Given the description of an element on the screen output the (x, y) to click on. 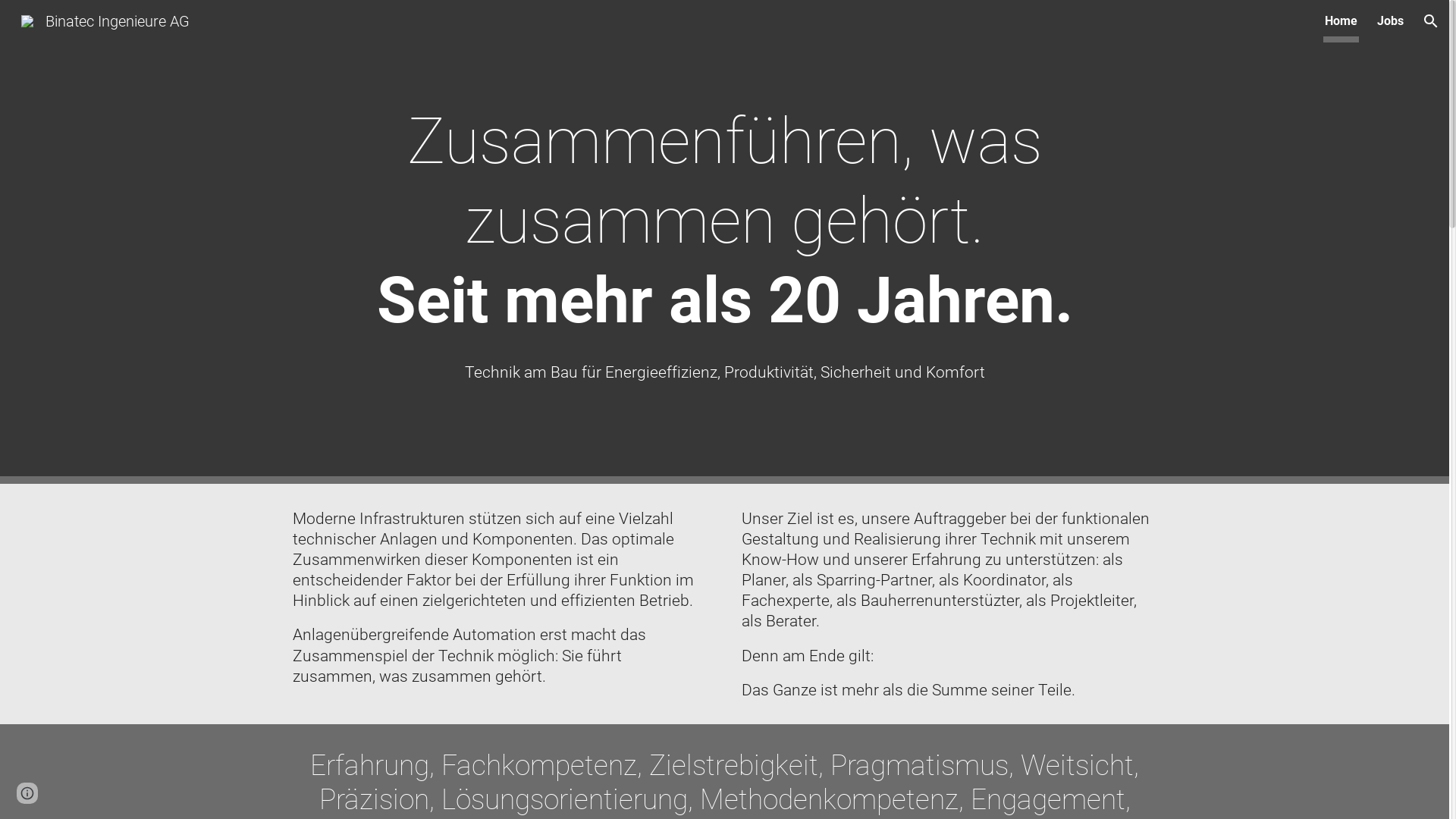
Jobs Element type: text (1390, 20)
Binatec Ingenieure AG Element type: text (105, 19)
Home Element type: text (1340, 20)
